Given the description of an element on the screen output the (x, y) to click on. 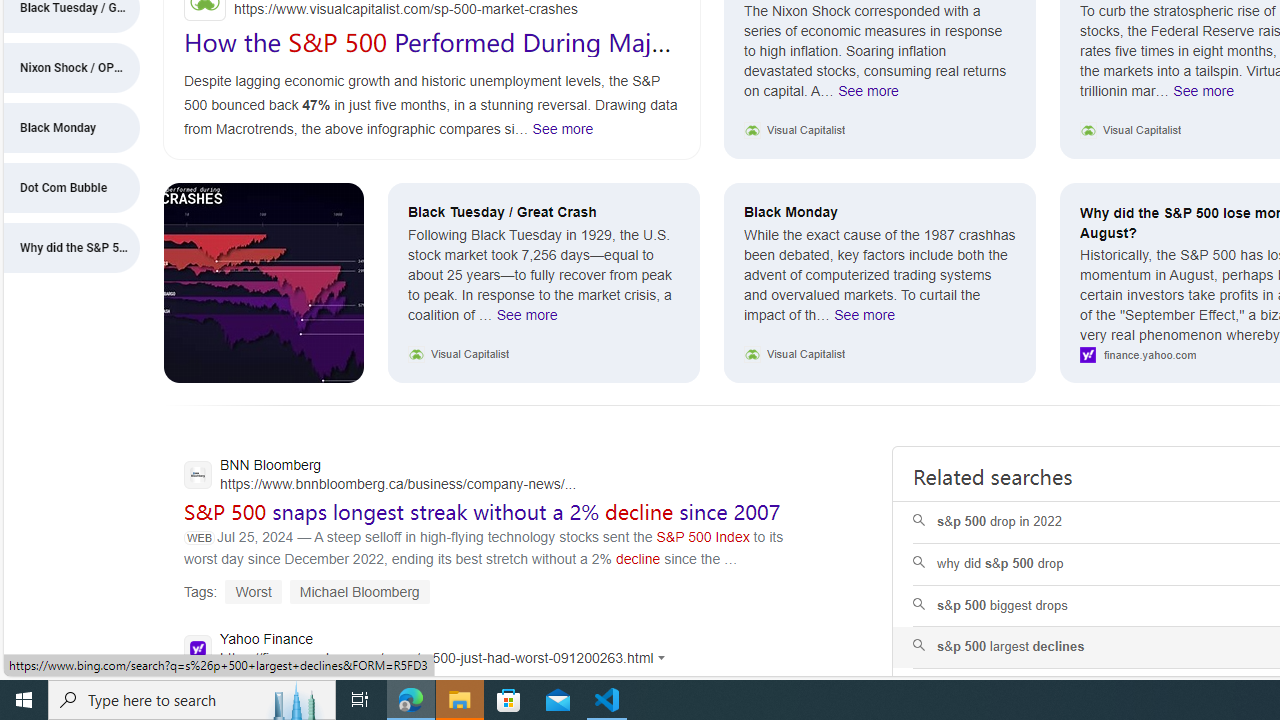
Tags: Worst Michael Bloomberg (307, 592)
See more Black Monday (864, 319)
